Given the description of an element on the screen output the (x, y) to click on. 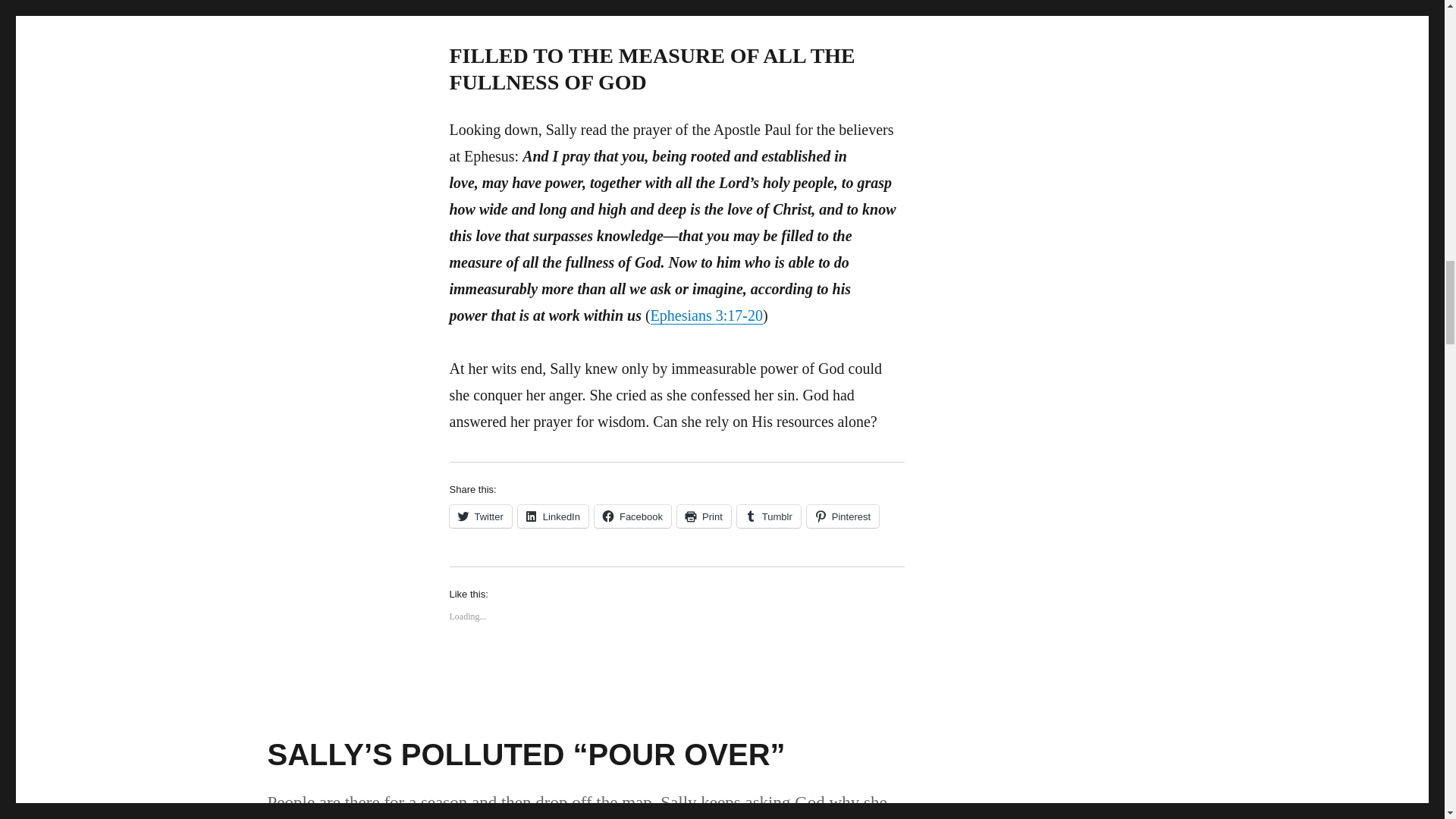
Click to share on Twitter (479, 516)
Click to share on Facebook (632, 516)
LinkedIn (553, 516)
Pinterest (842, 516)
Facebook (632, 516)
Click to print (703, 516)
Ephesians 3:17-20 (706, 315)
Tumblr (768, 516)
Twitter (479, 516)
Click to share on LinkedIn (553, 516)
